Given the description of an element on the screen output the (x, y) to click on. 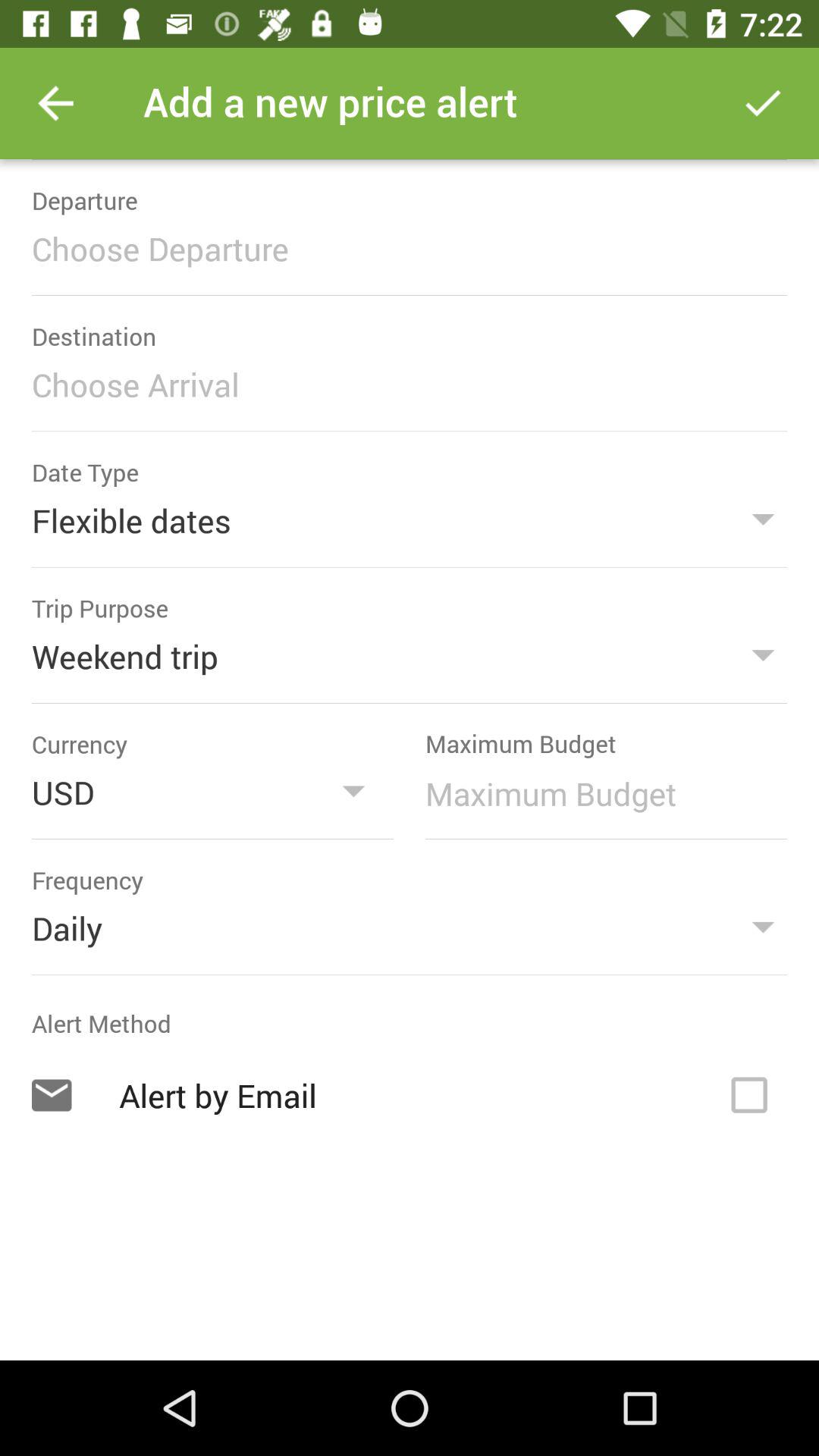
maximum budget amount (598, 793)
